Given the description of an element on the screen output the (x, y) to click on. 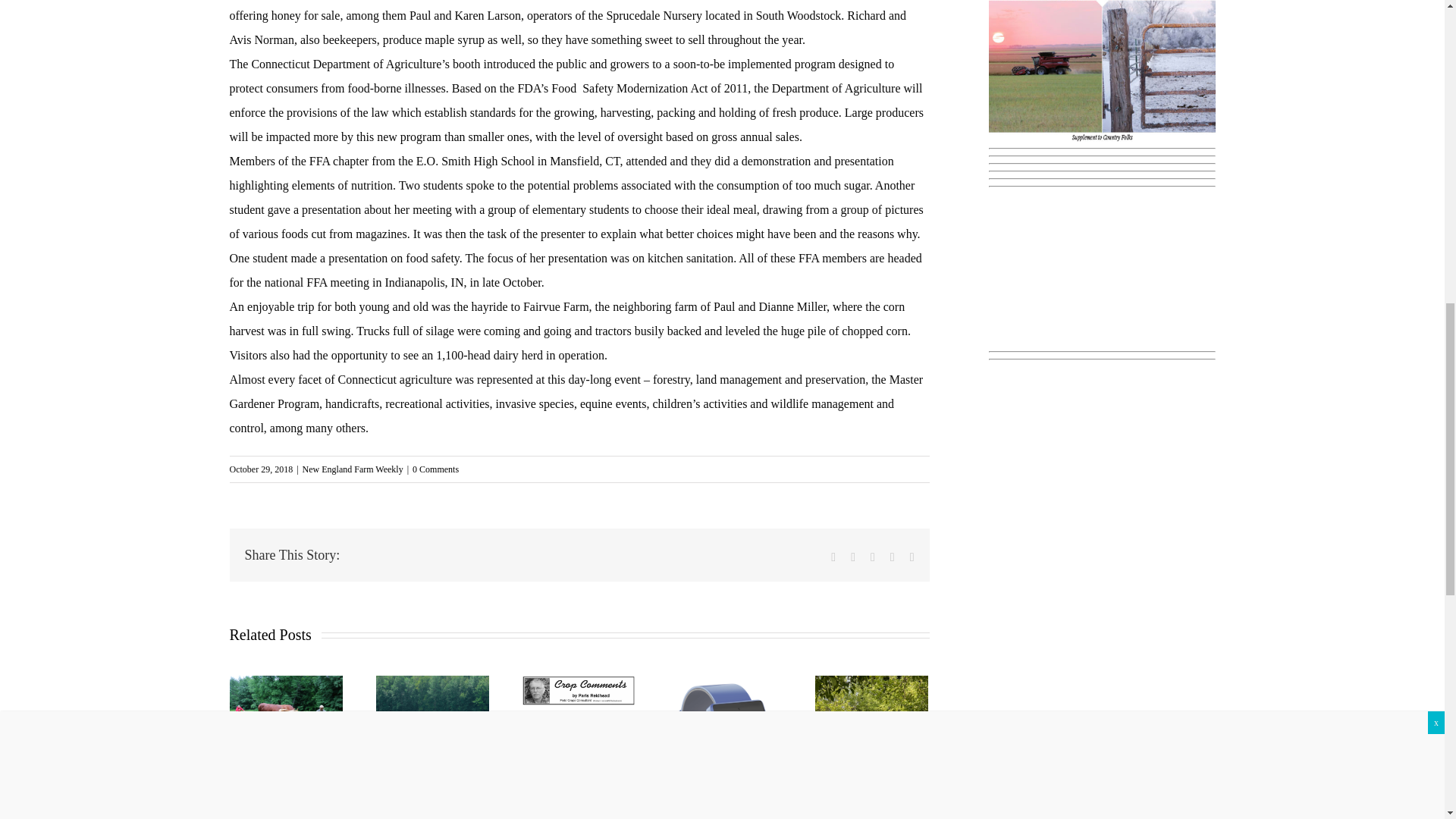
Teamsters and oxen united at working oxen demo (282, 795)
Cover crops in cold climates a decades-long study for Darby (432, 731)
Crop Comments: Mexican Small Farmers Take on Megacorporation (577, 690)
Teamsters and oxen united at working oxen demo (285, 714)
Crop Comments: Mexican small farmers take on megacorporation (568, 759)
Cover crops in cold climates a decades-long study for Darby (429, 812)
